Given the description of an element on the screen output the (x, y) to click on. 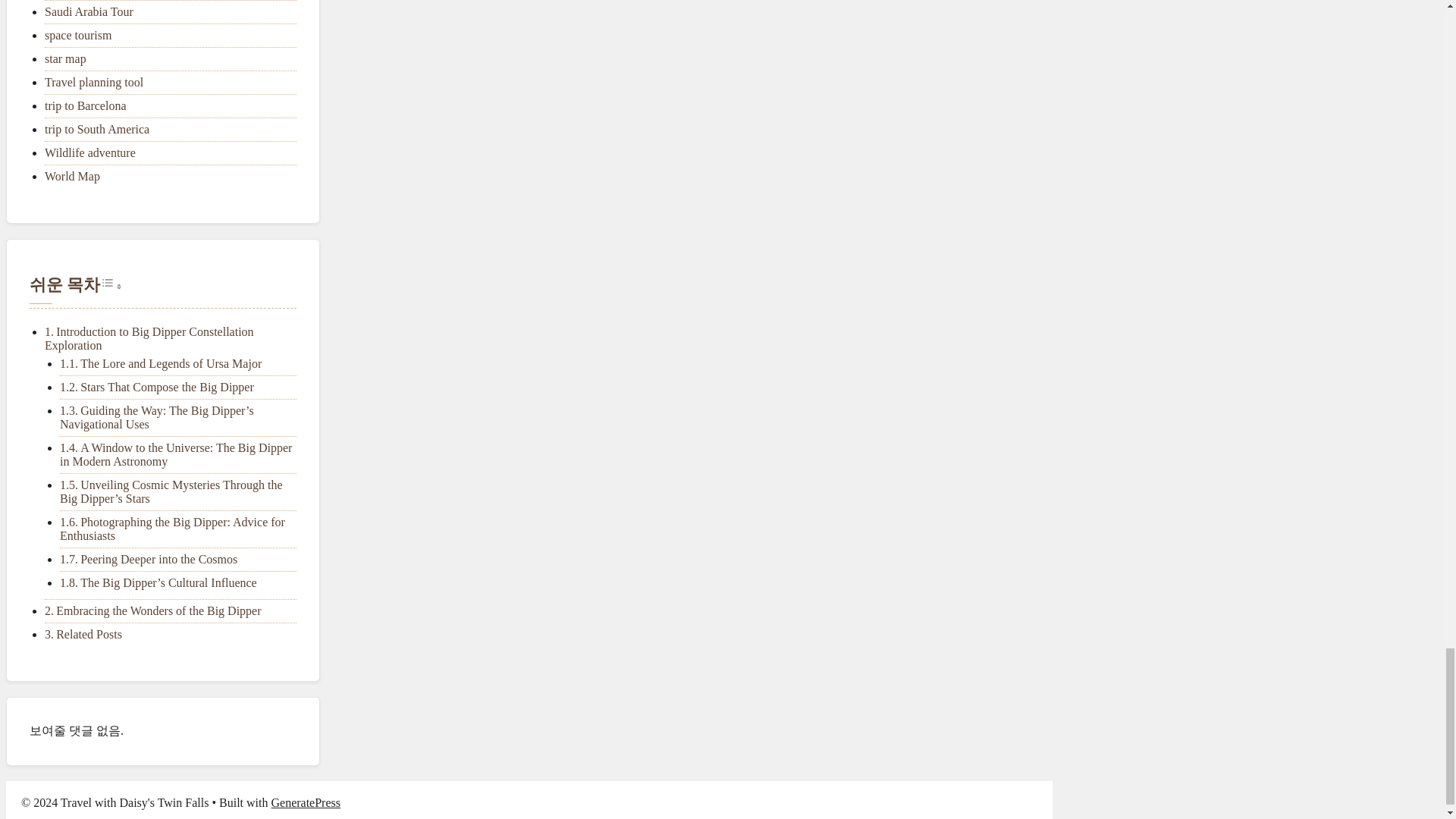
Introduction to Big Dipper Constellation Exploration (149, 338)
Stars That Compose the Big Dipper (166, 386)
The Lore and Legends of Ursa Major (171, 363)
